Given the description of an element on the screen output the (x, y) to click on. 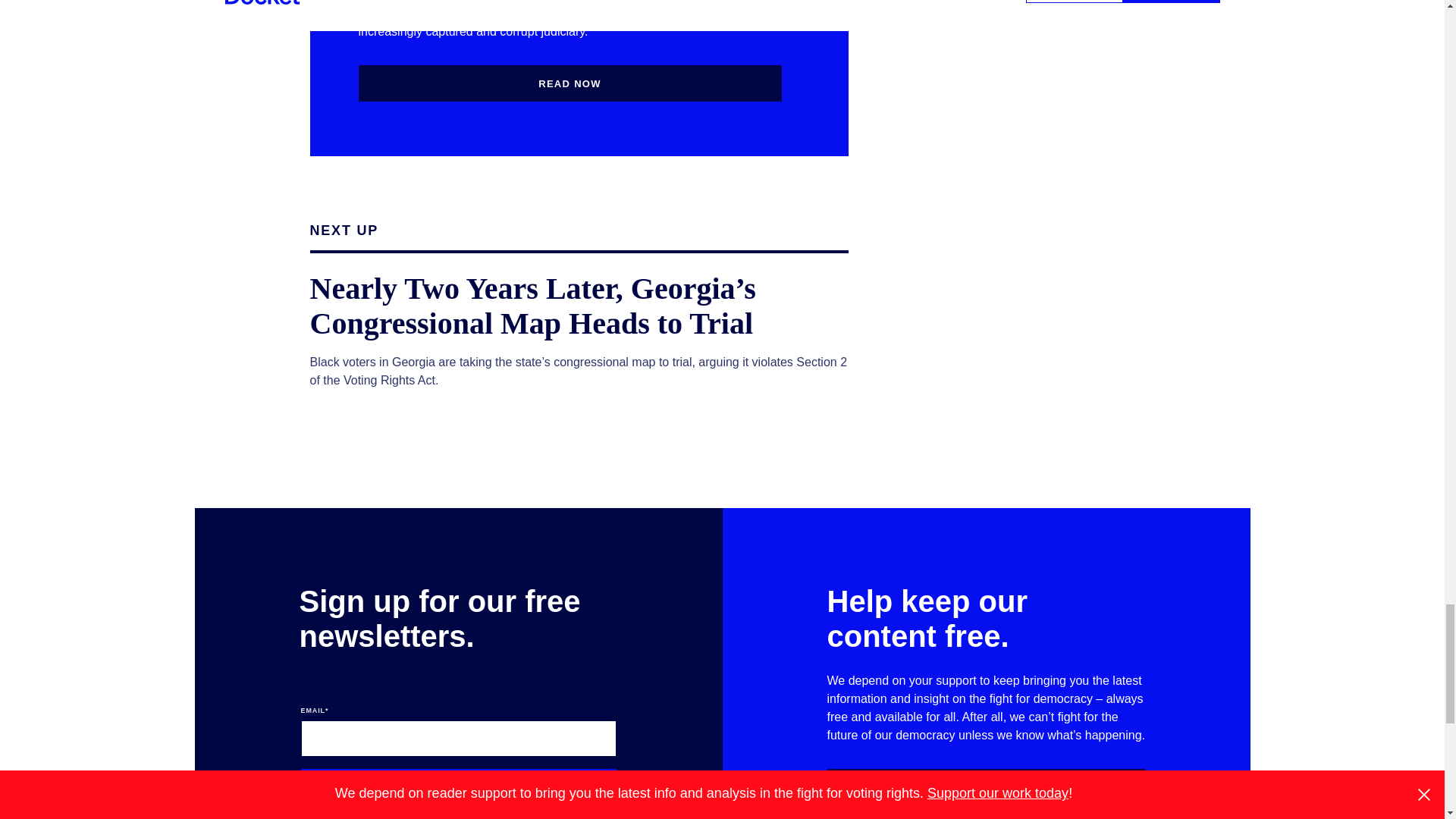
Sign Up (457, 787)
